Given the description of an element on the screen output the (x, y) to click on. 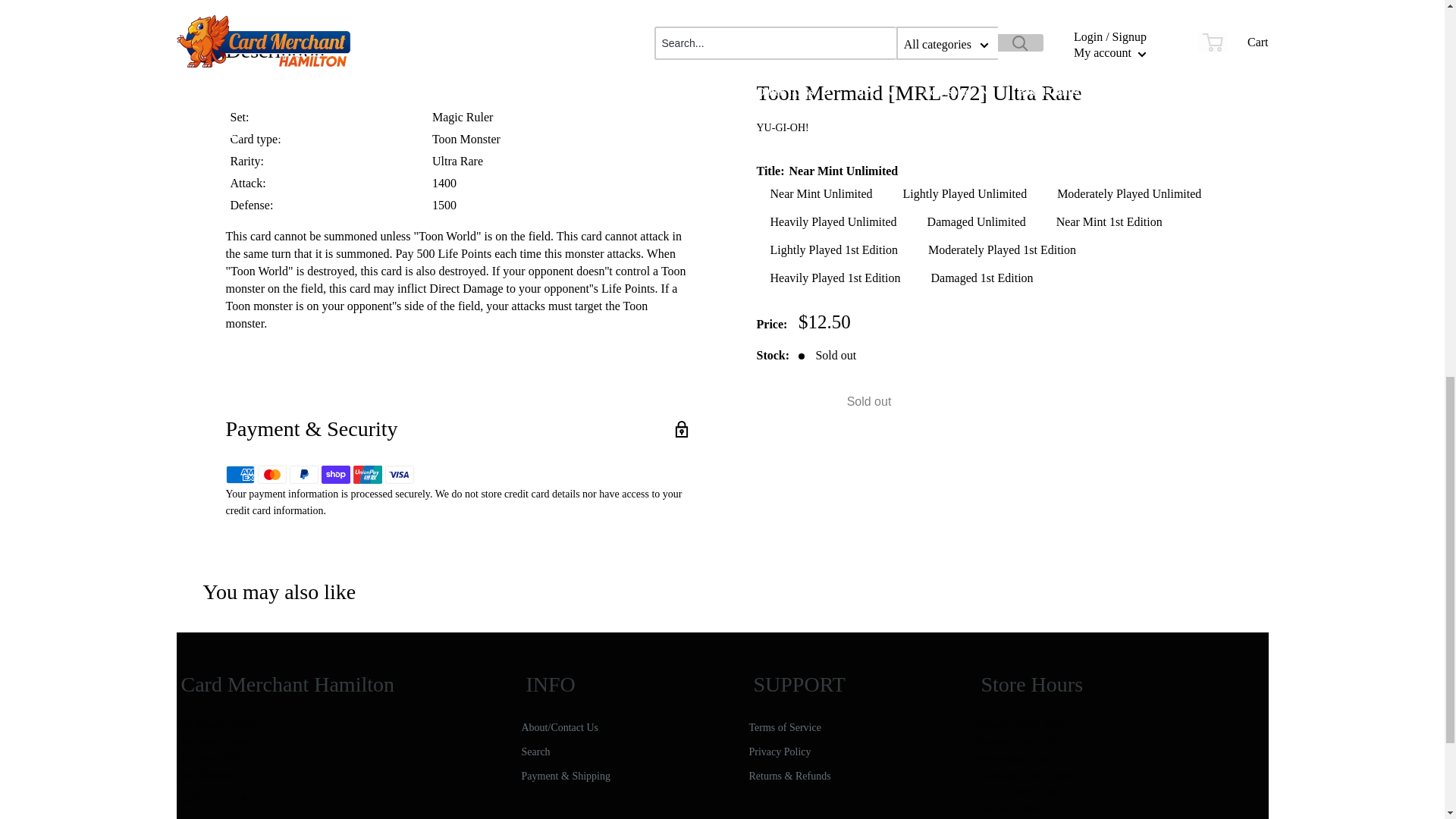
American Express (239, 475)
